Given the description of an element on the screen output the (x, y) to click on. 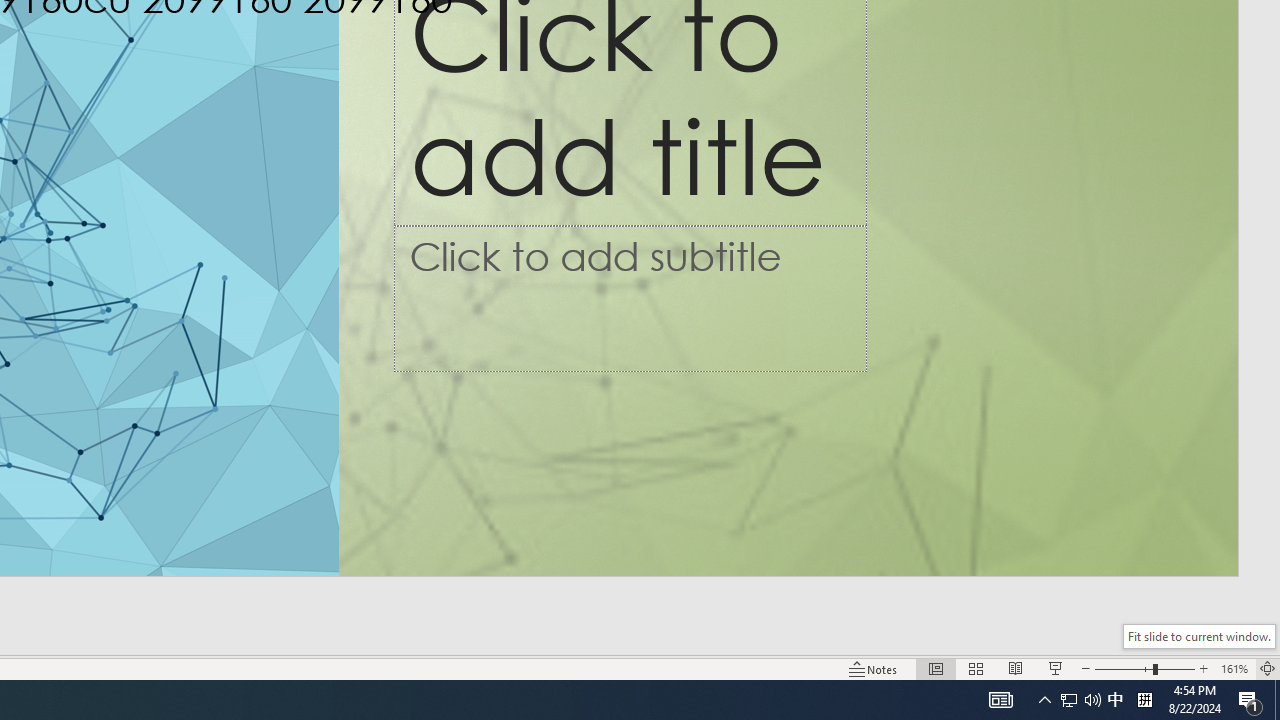
Zoom 161% (1234, 668)
Fit slide to current window. (1199, 636)
